Given the description of an element on the screen output the (x, y) to click on. 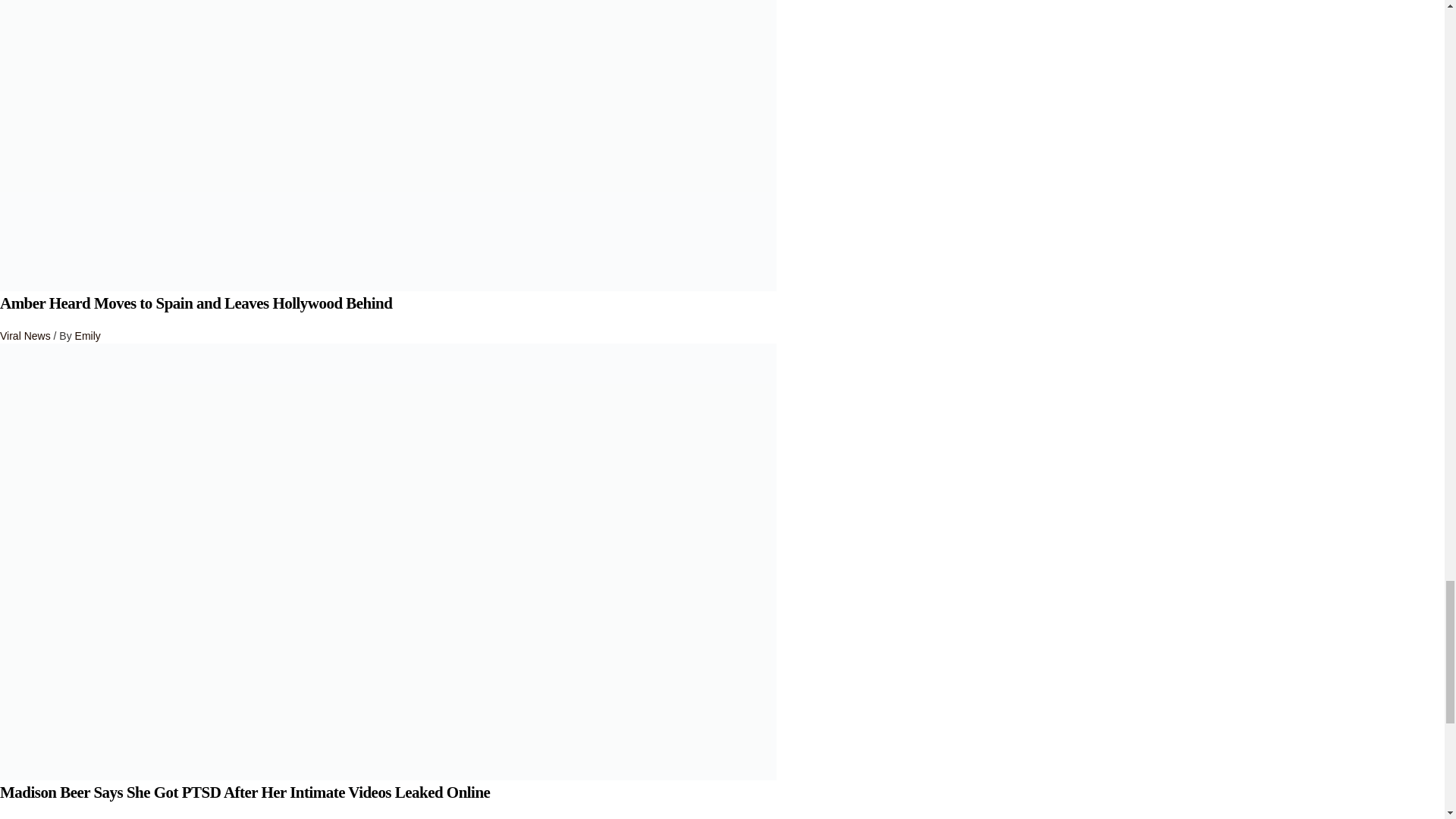
Amber Heard Moves to Spain and Leaves Hollywood Behind (195, 303)
Viral News (25, 336)
View all posts by Emily (87, 336)
Emily (87, 336)
